Given the description of an element on the screen output the (x, y) to click on. 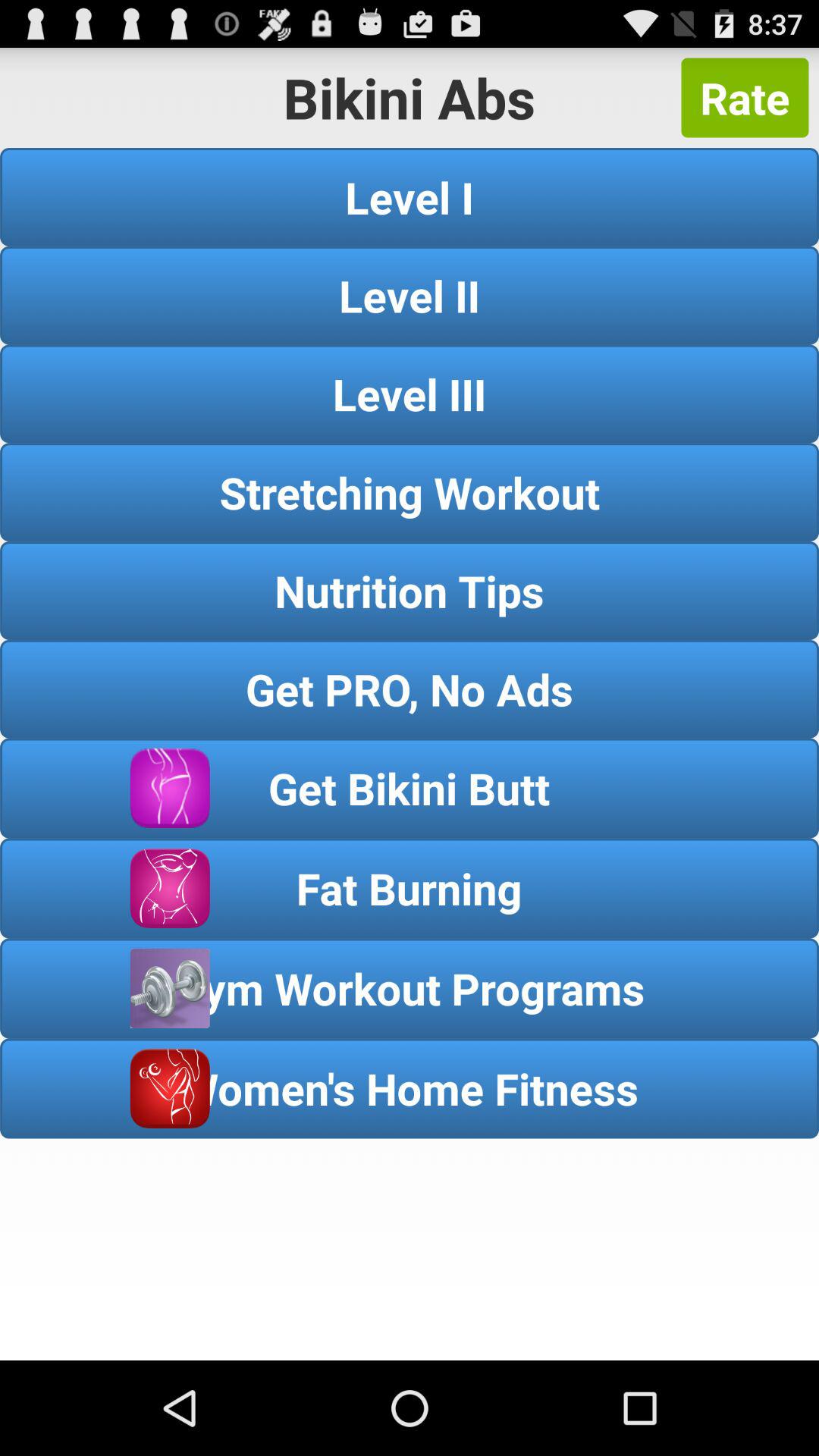
open the icon above the stretching workout (409, 393)
